Given the description of an element on the screen output the (x, y) to click on. 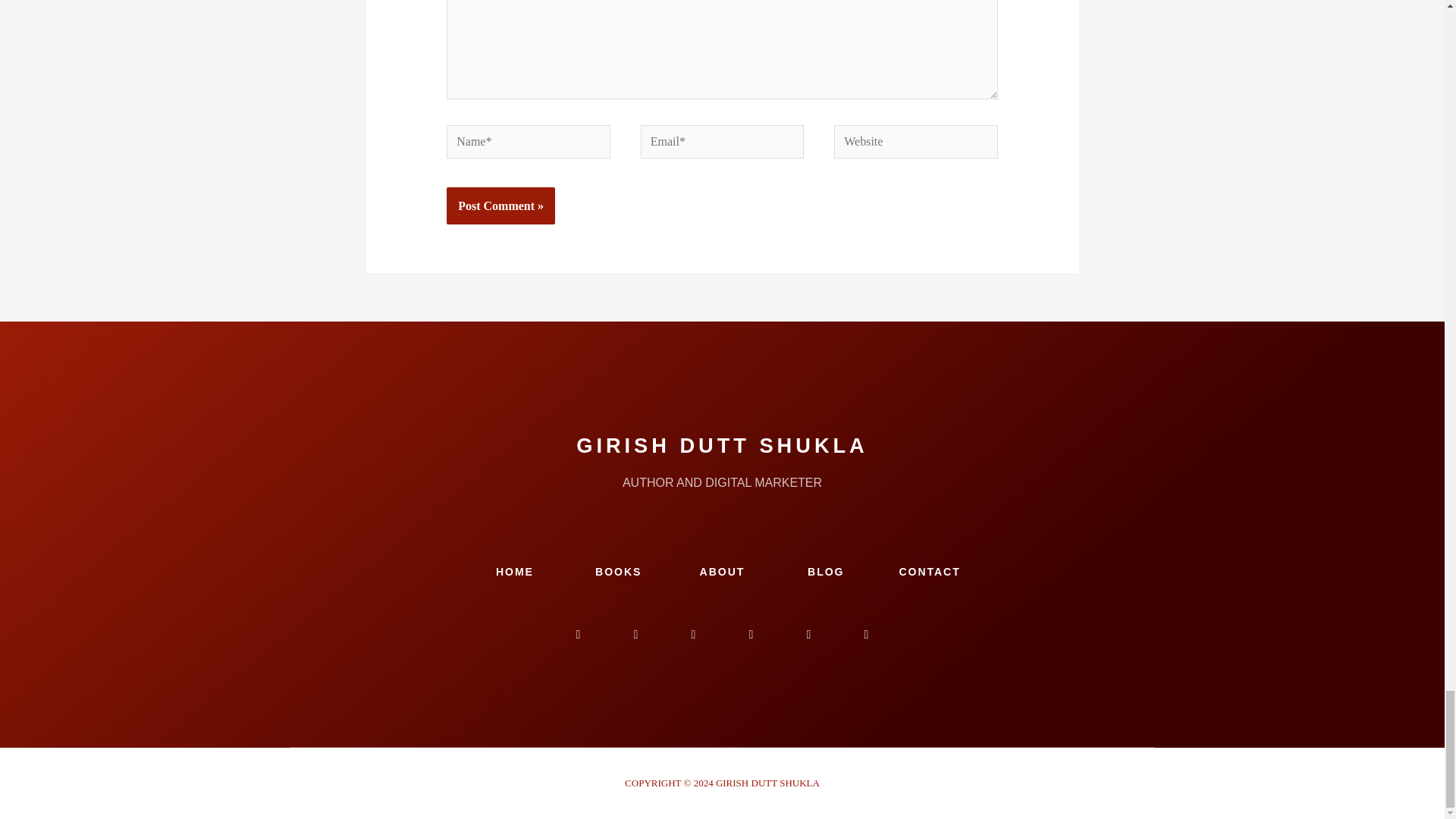
Twitter (750, 634)
HOME (515, 571)
BOOKS (618, 571)
Instagram (635, 634)
Linkedin (808, 634)
BLOG (826, 571)
Facebook-f (577, 634)
CONTACT (928, 571)
Pinterest (865, 634)
ABOUT (722, 571)
Youtube (692, 634)
